Given the description of an element on the screen output the (x, y) to click on. 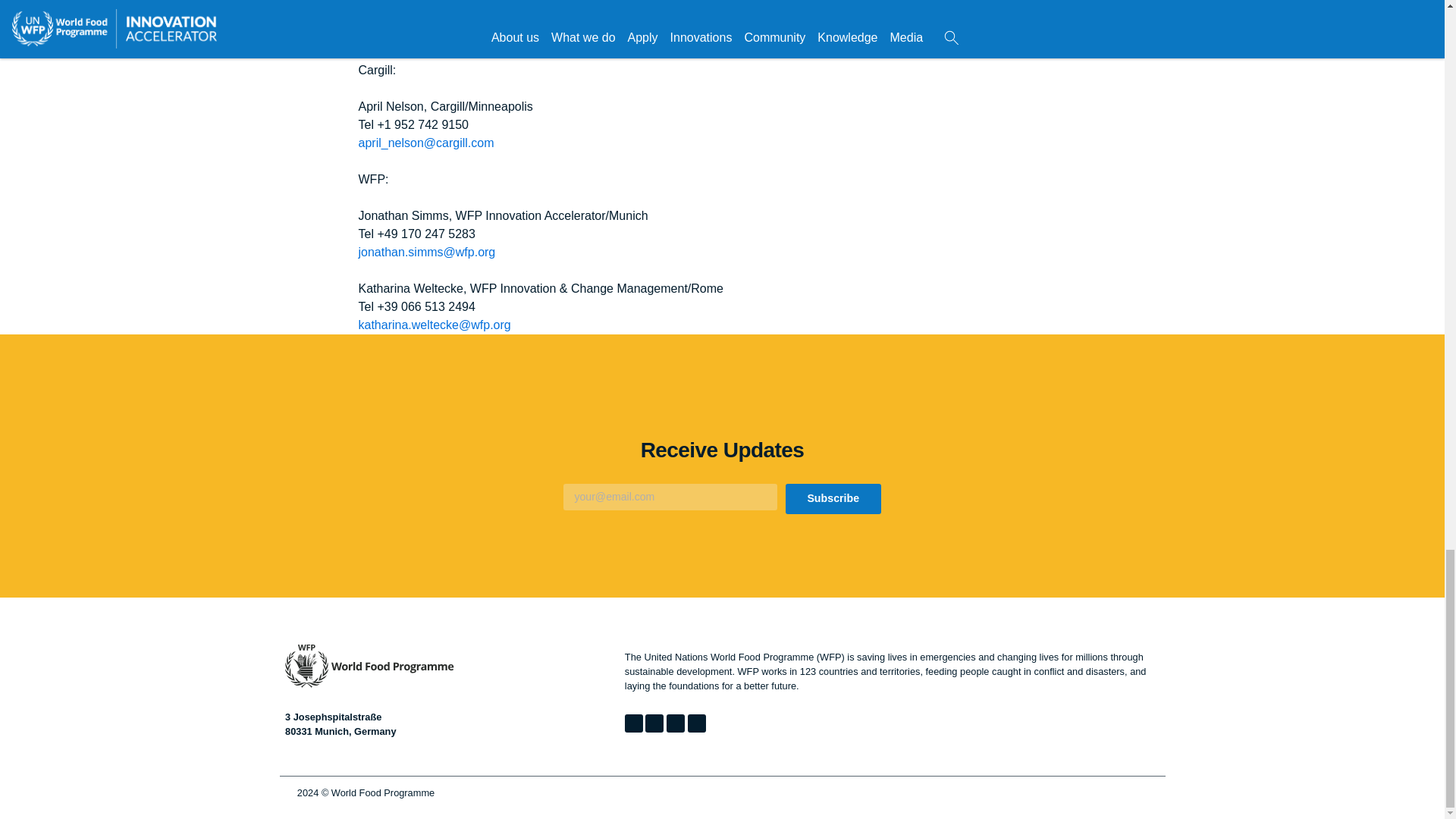
YouTube (696, 723)
Subscribe (833, 499)
LinkedIn (654, 723)
Medium (675, 723)
Twitter (633, 723)
